Given the description of an element on the screen output the (x, y) to click on. 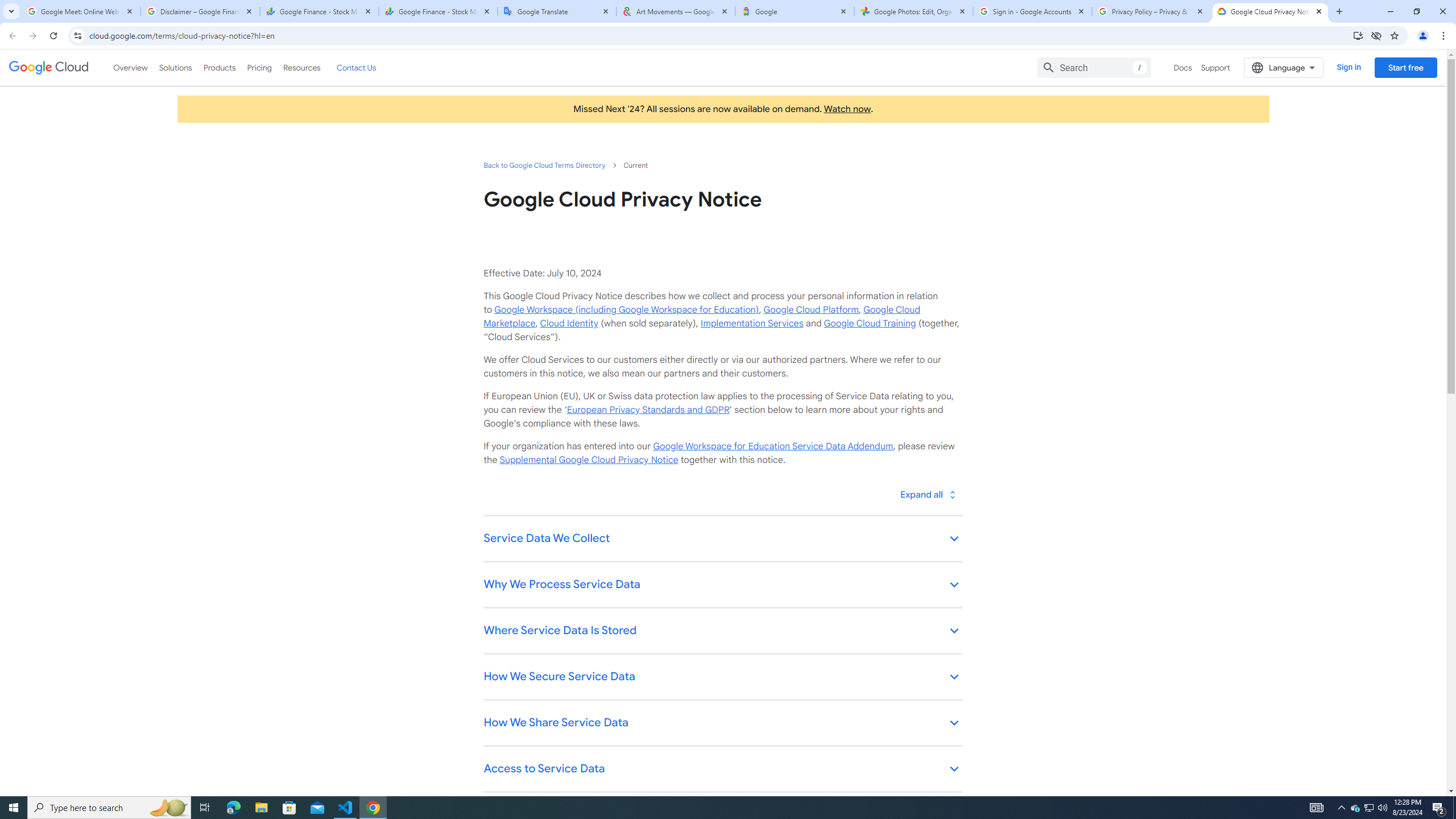
Solutions (175, 67)
Docs (1182, 67)
Access to Service Data keyboard_arrow_down (722, 769)
Watch now (847, 108)
Service Data We Collect keyboard_arrow_down (722, 539)
Pricing (259, 67)
Google Cloud Platform (810, 309)
Start free (1405, 67)
